Given the description of an element on the screen output the (x, y) to click on. 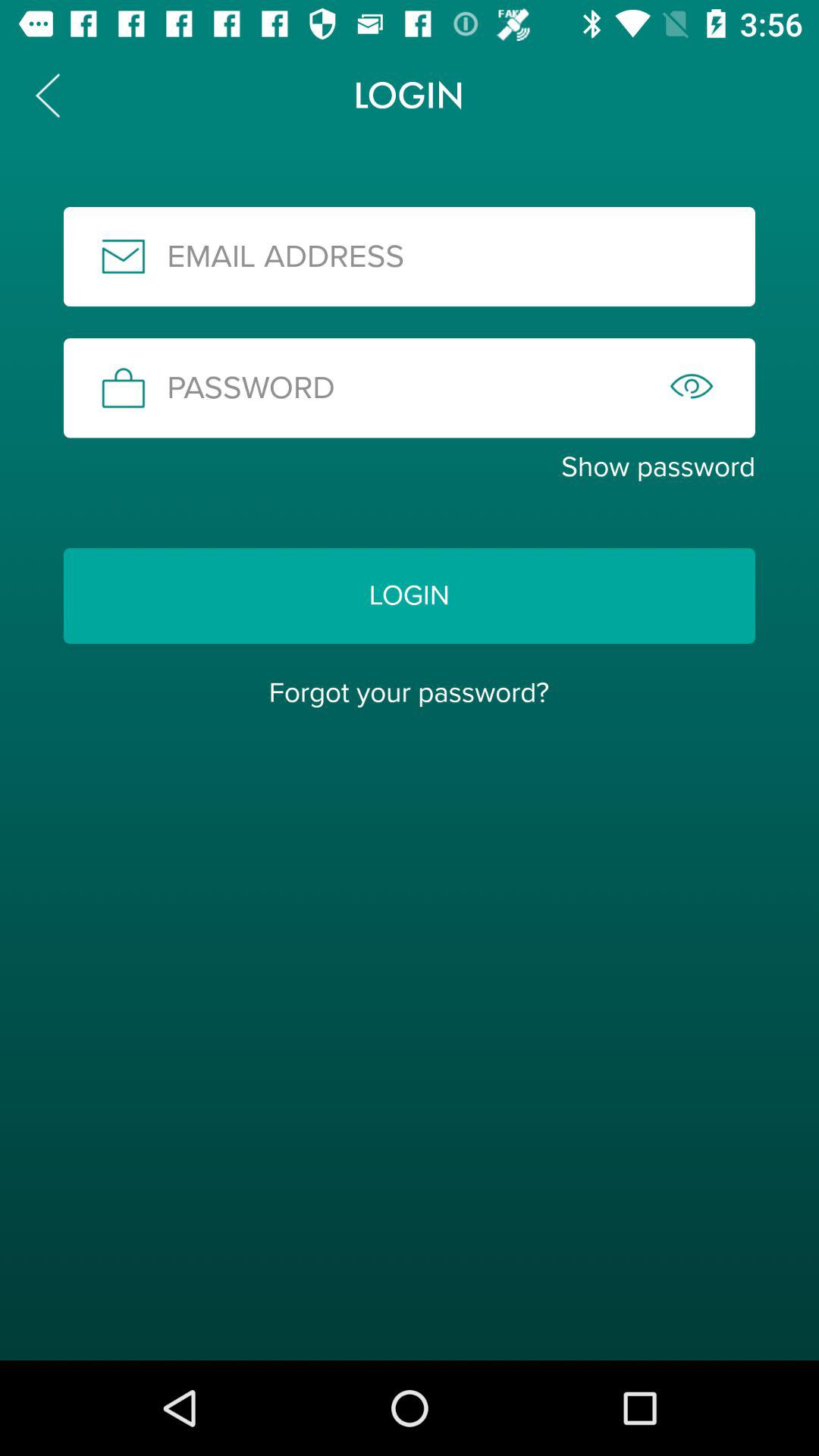
press the item next to login (47, 95)
